Given the description of an element on the screen output the (x, y) to click on. 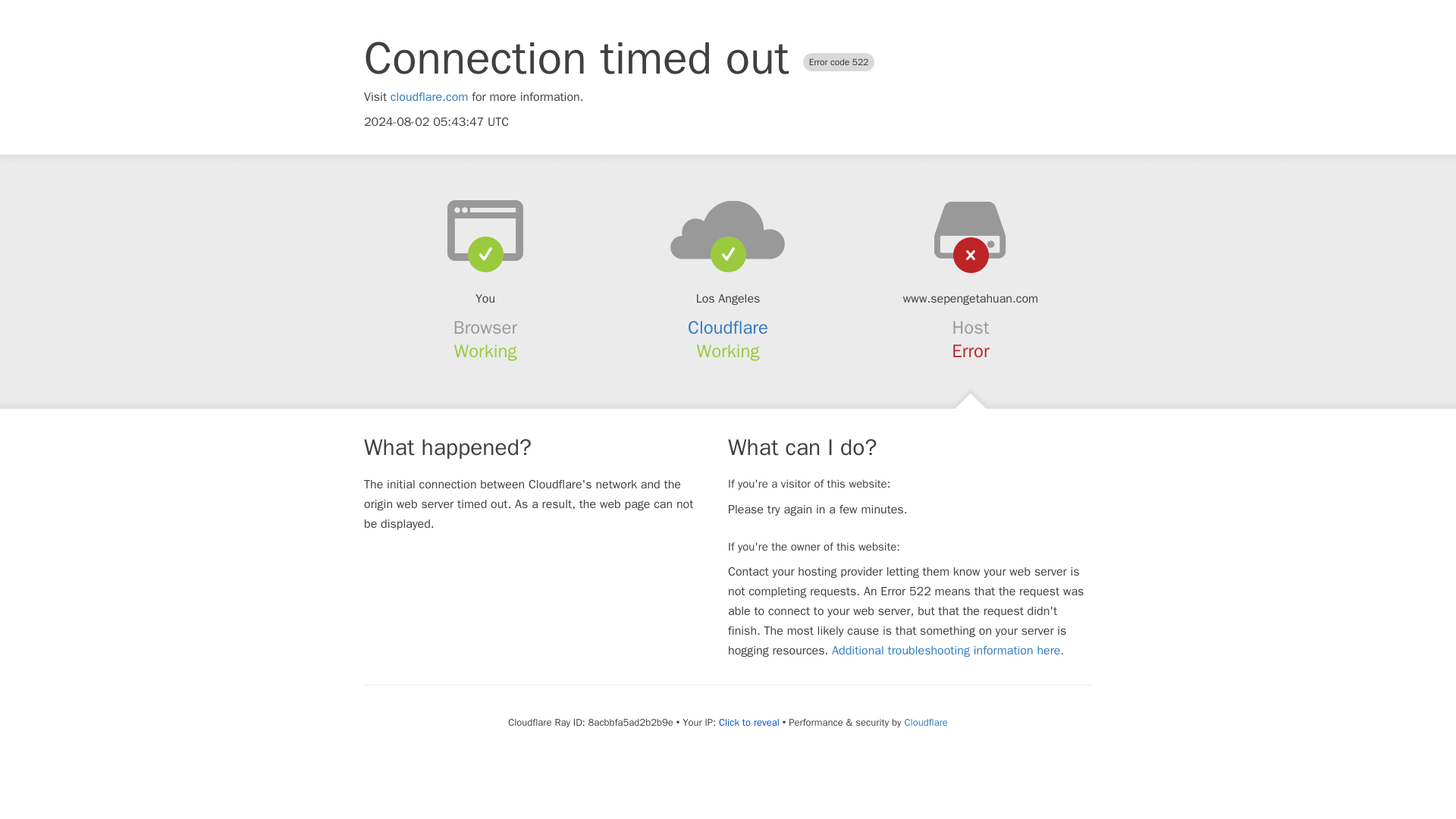
Cloudflare (925, 721)
Cloudflare (727, 327)
cloudflare.com (429, 96)
Click to reveal (748, 722)
Additional troubleshooting information here. (947, 650)
